Given the description of an element on the screen output the (x, y) to click on. 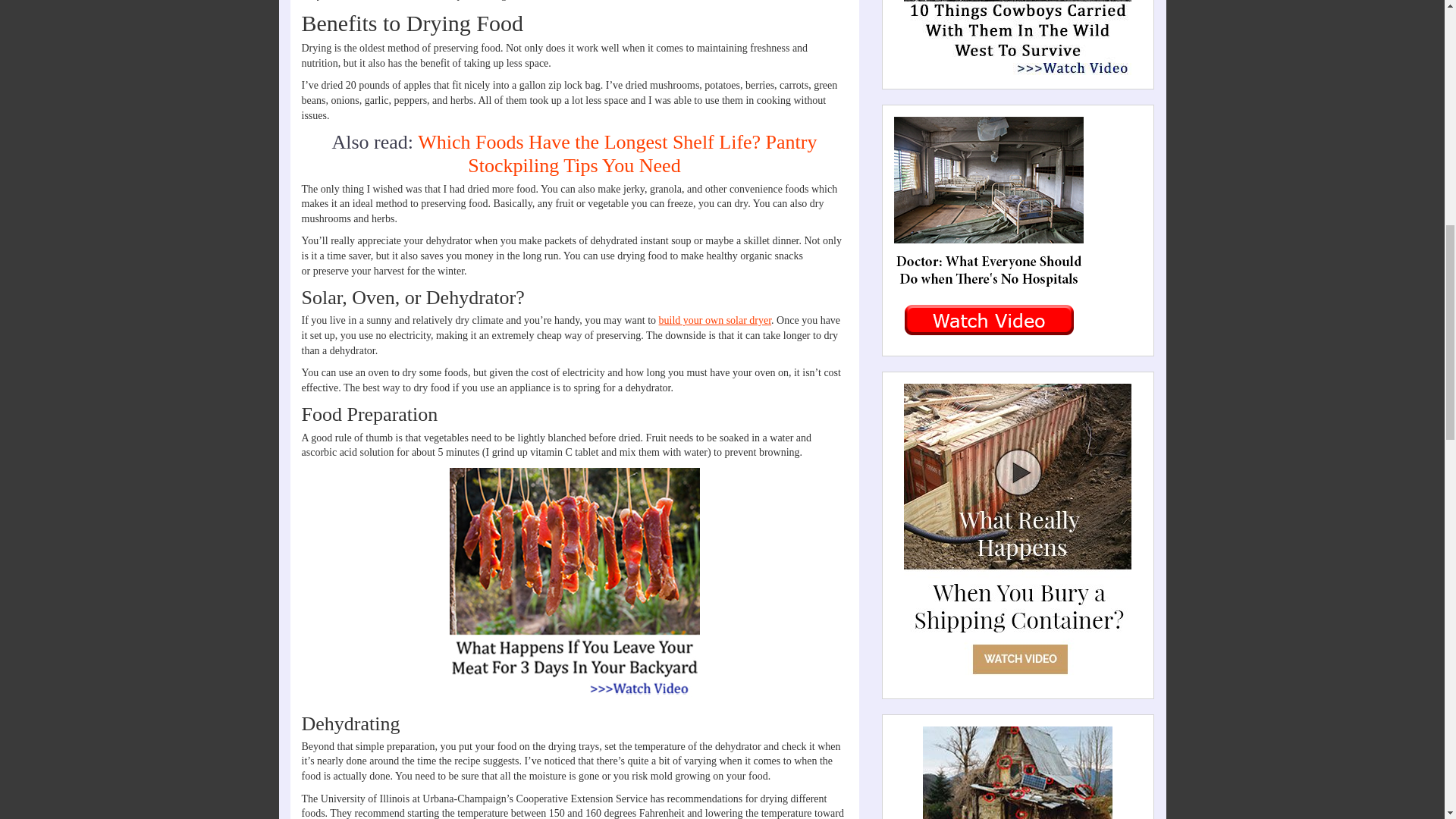
build your own solar dryer (715, 319)
tlw2-01 (1017, 38)
